Given the description of an element on the screen output the (x, y) to click on. 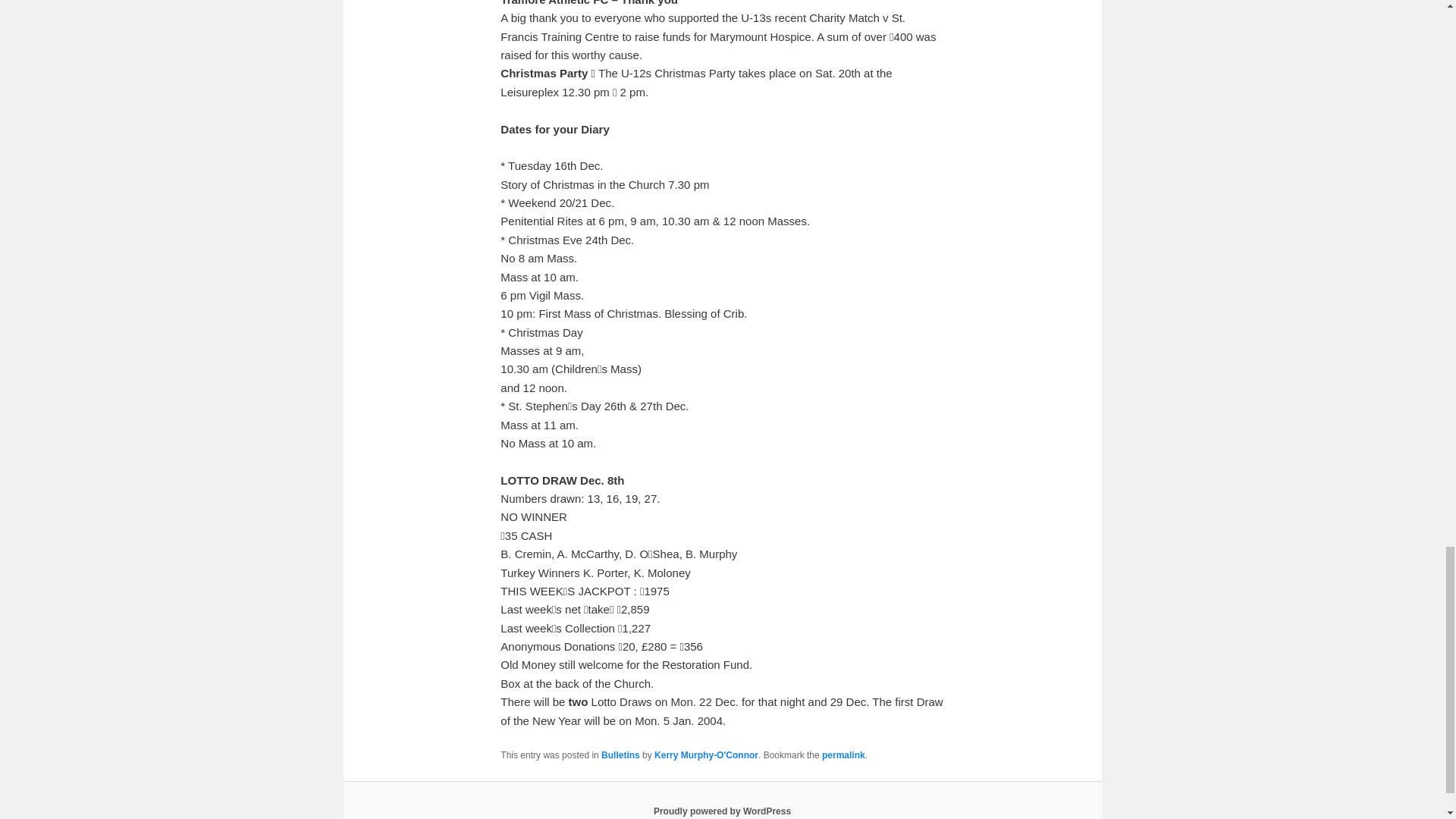
Bulletins (620, 755)
Proudly powered by WordPress (721, 810)
permalink (843, 755)
Semantic Personal Publishing Platform (721, 810)
Kerry Murphy-O'Connor (705, 755)
